Given the description of an element on the screen output the (x, y) to click on. 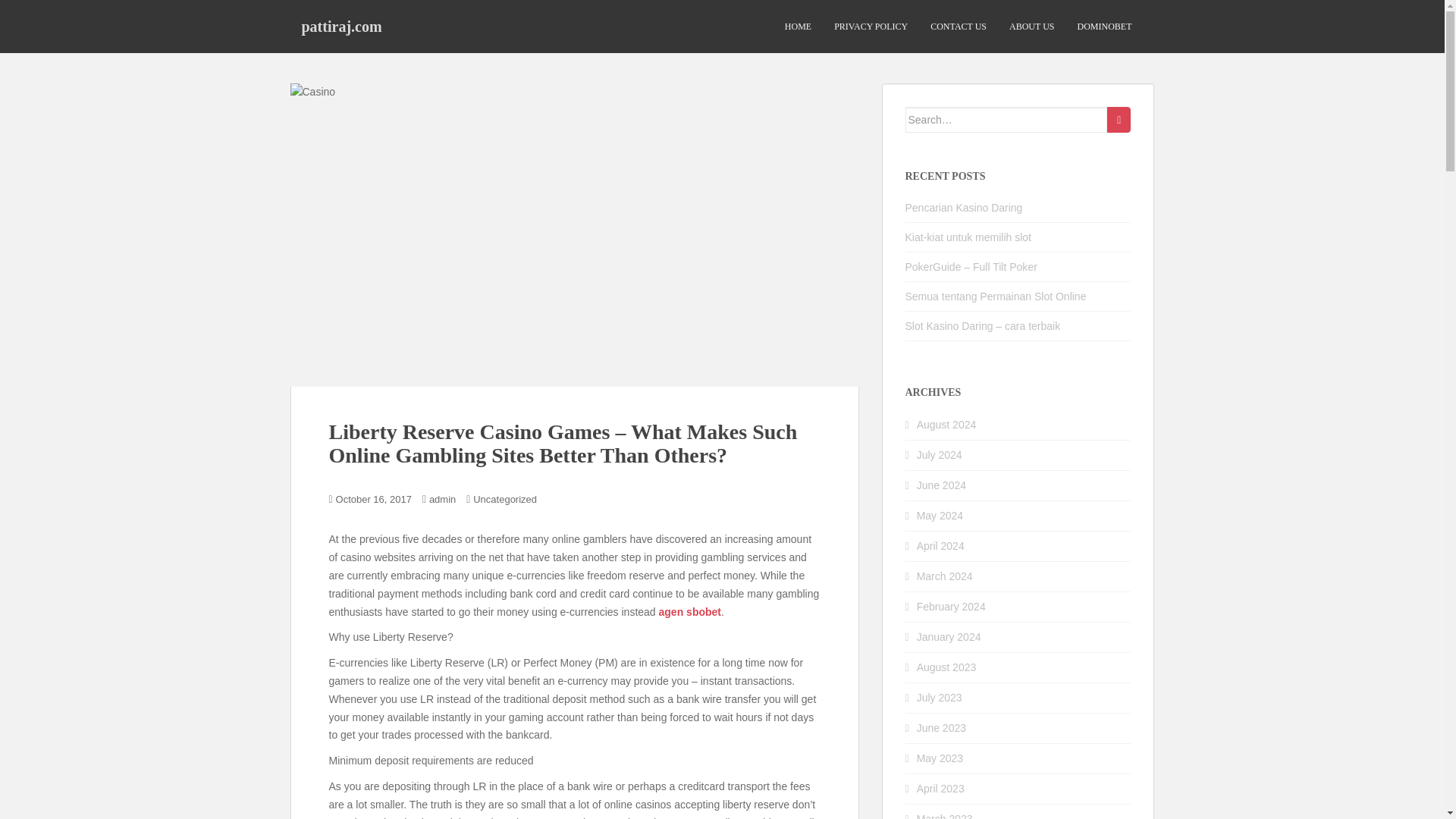
June 2023 (941, 727)
agen sbobet (689, 612)
admin (442, 499)
July 2023 (939, 697)
March 2023 (944, 816)
January 2024 (949, 636)
May 2023 (939, 758)
October 16, 2017 (374, 499)
August 2024 (946, 424)
CONTACT US (958, 26)
